Given the description of an element on the screen output the (x, y) to click on. 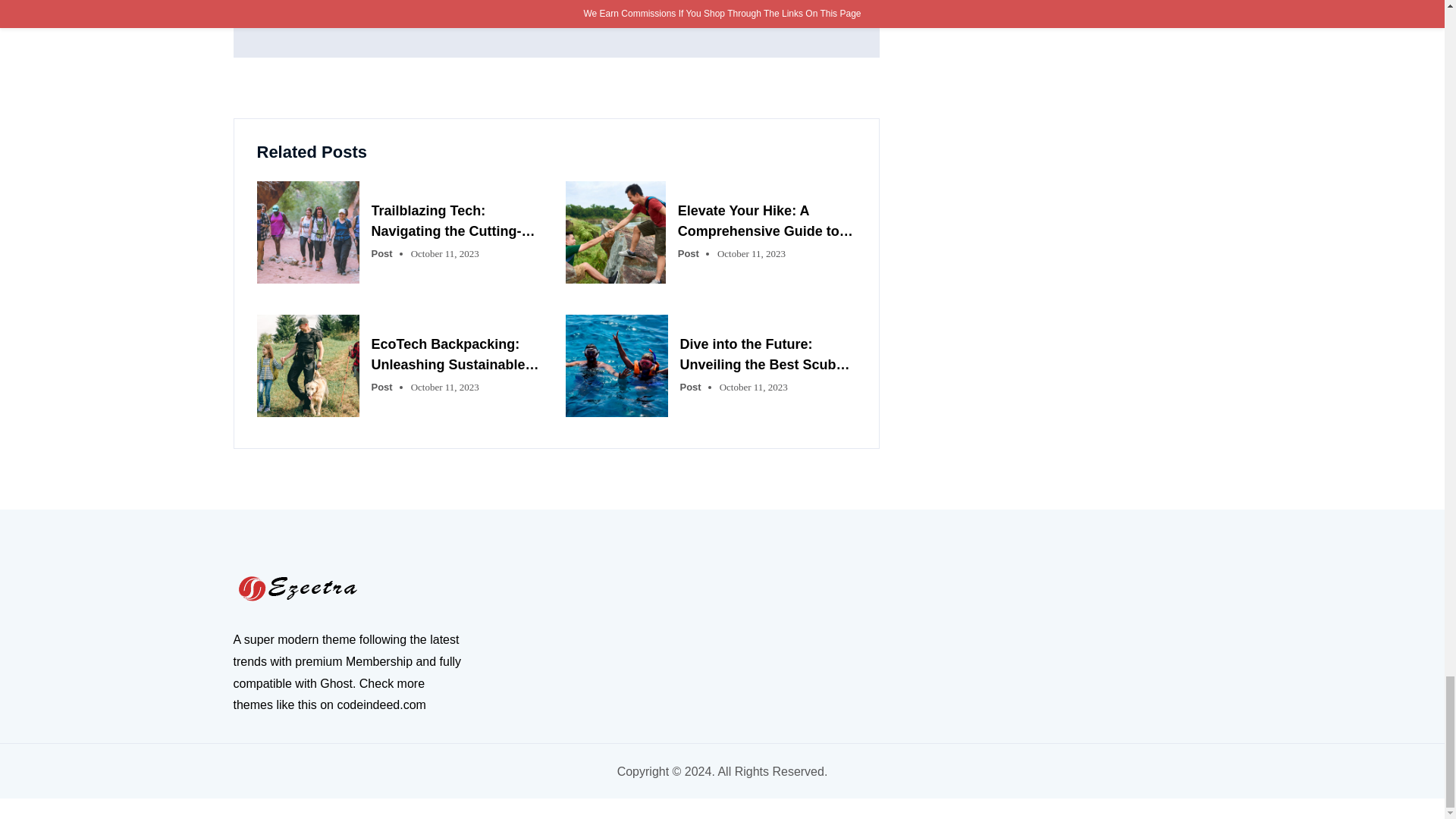
Post Comment (320, 9)
Post Comment (320, 9)
